Given the description of an element on the screen output the (x, y) to click on. 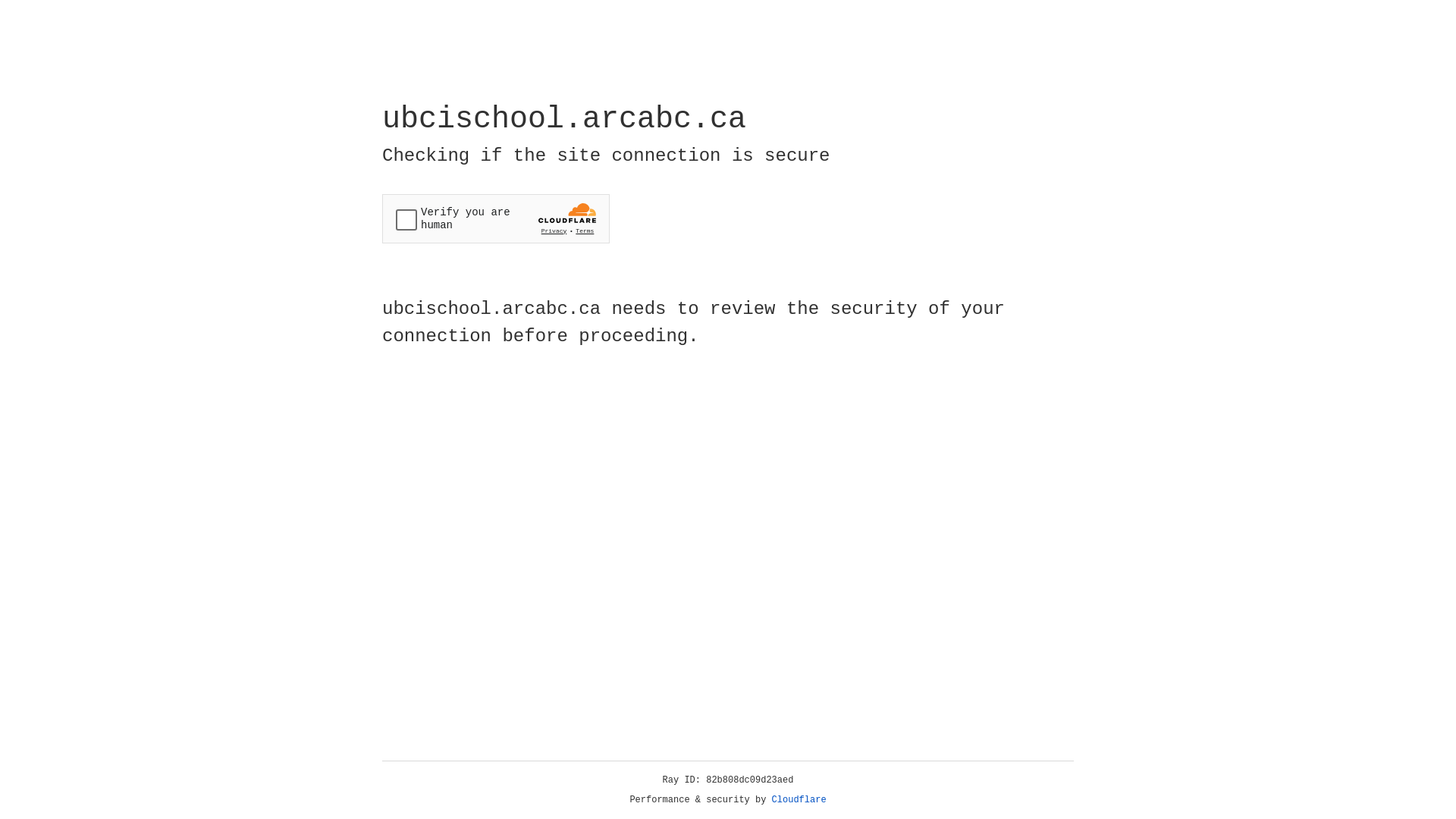
Cloudflare Element type: text (798, 799)
Widget containing a Cloudflare security challenge Element type: hover (495, 218)
